Given the description of an element on the screen output the (x, y) to click on. 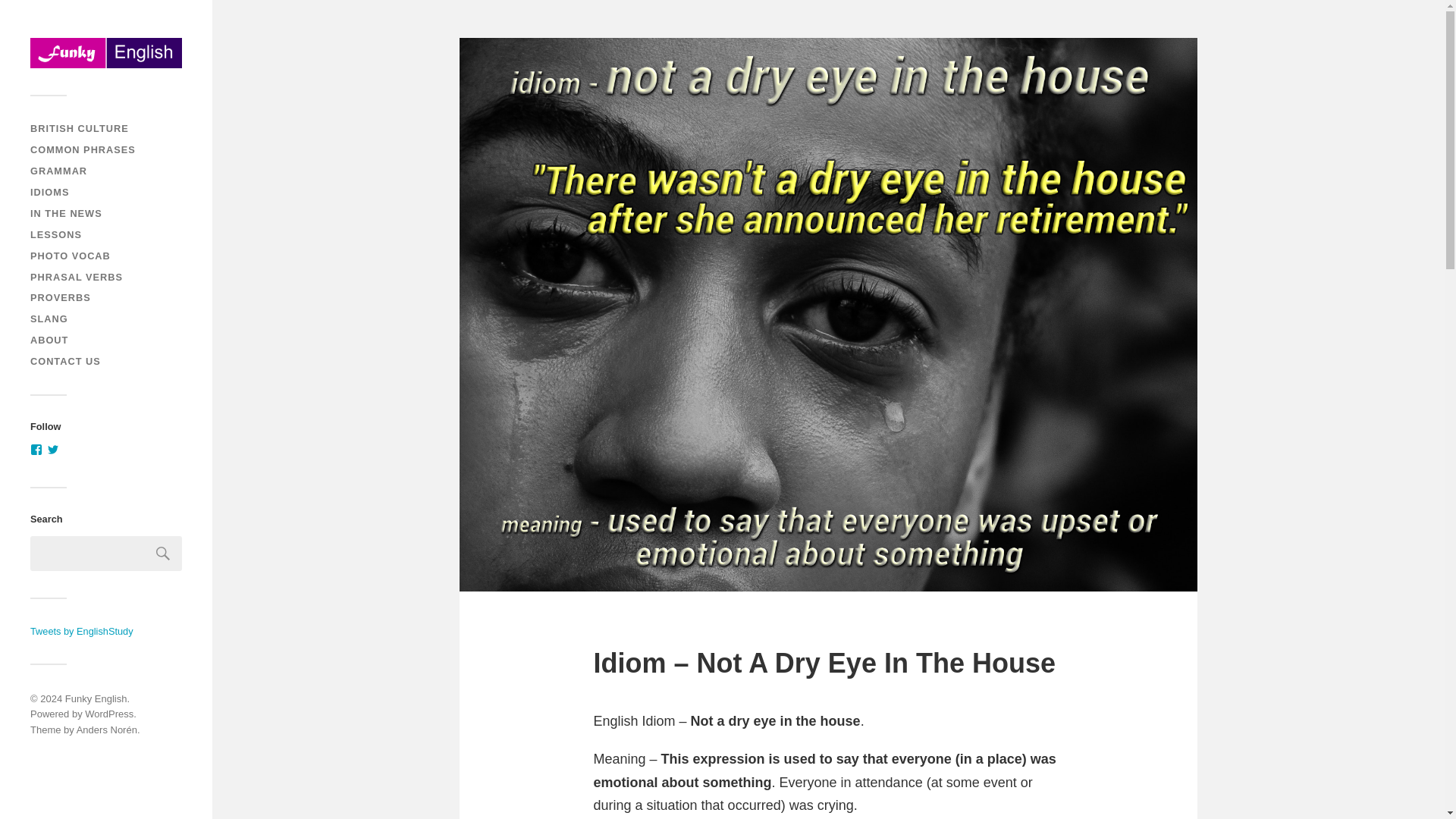
IDIOMS (49, 192)
PROVERBS (60, 297)
CONTACT US (65, 360)
Tweets by EnglishStudy (81, 631)
LESSONS (55, 234)
Search (163, 553)
WordPress (108, 713)
SLANG (49, 318)
IN THE NEWS (65, 213)
Search (163, 553)
BRITISH CULTURE (79, 128)
PHRASAL VERBS (76, 276)
ABOUT (49, 339)
GRAMMAR (58, 170)
COMMON PHRASES (82, 149)
